Given the description of an element on the screen output the (x, y) to click on. 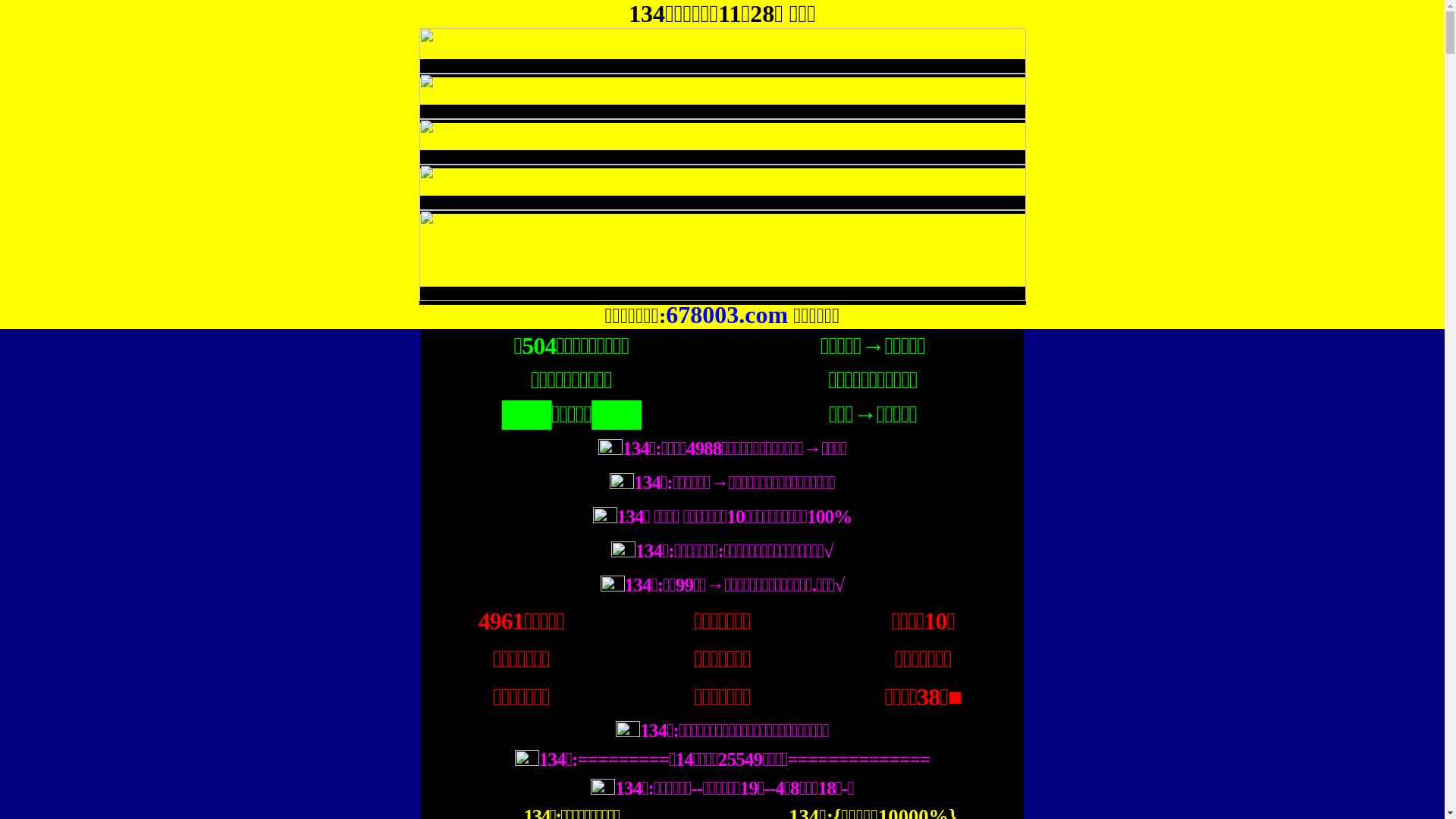
7.27 Element type: hover (721, 159)
073 Element type: hover (721, 68)
7.27 Element type: hover (721, 205)
074 Element type: hover (721, 296)
7.27 Element type: hover (721, 114)
